Given the description of an element on the screen output the (x, y) to click on. 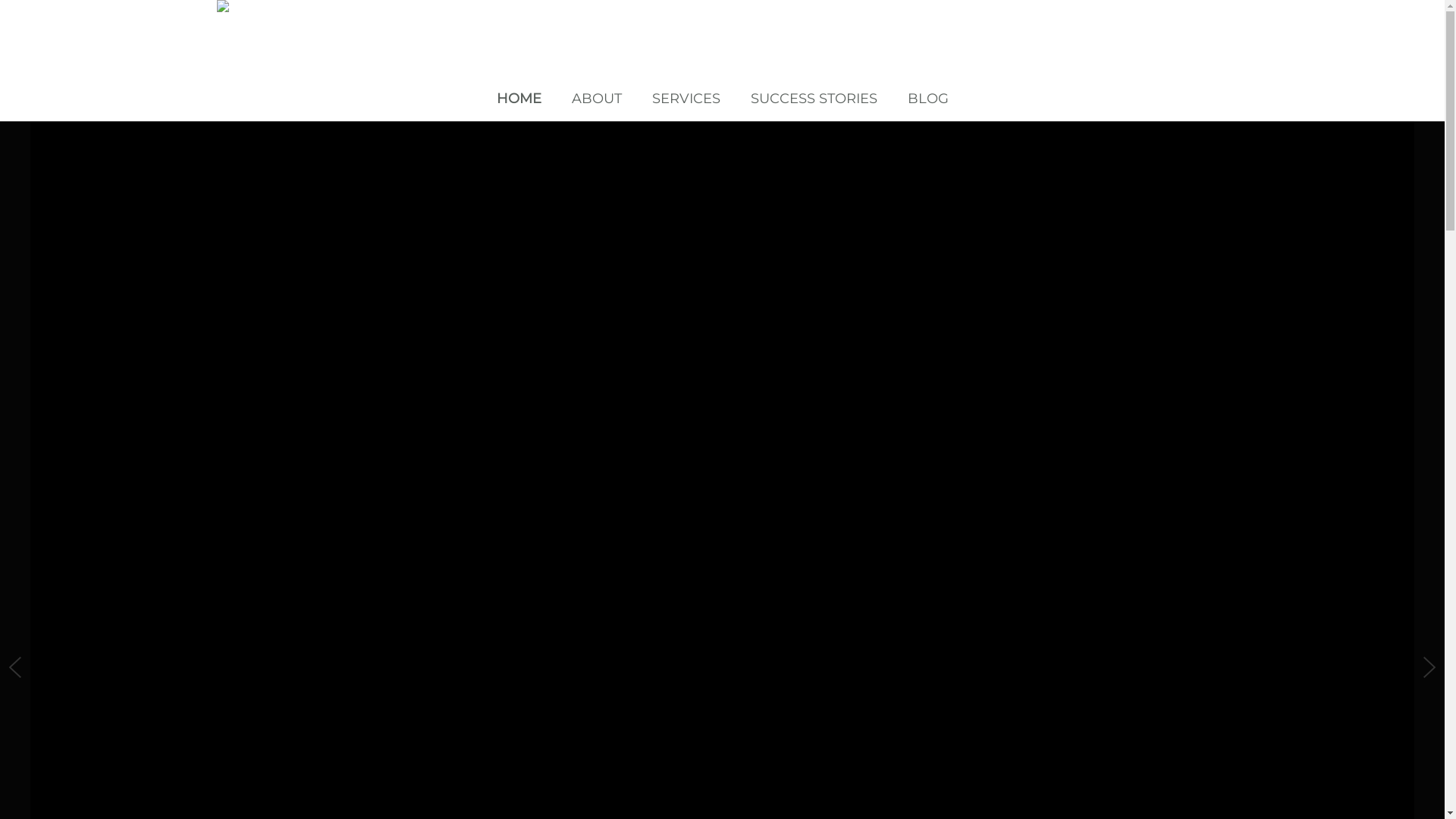
Ionise Coaching by Gaynor King Element type: hover (722, 6)
BLOG Element type: text (927, 98)
SERVICES Element type: text (686, 98)
ABOUT Element type: text (596, 98)
HOME Element type: text (517, 98)
SUCCESS STORIES Element type: text (813, 98)
